Given the description of an element on the screen output the (x, y) to click on. 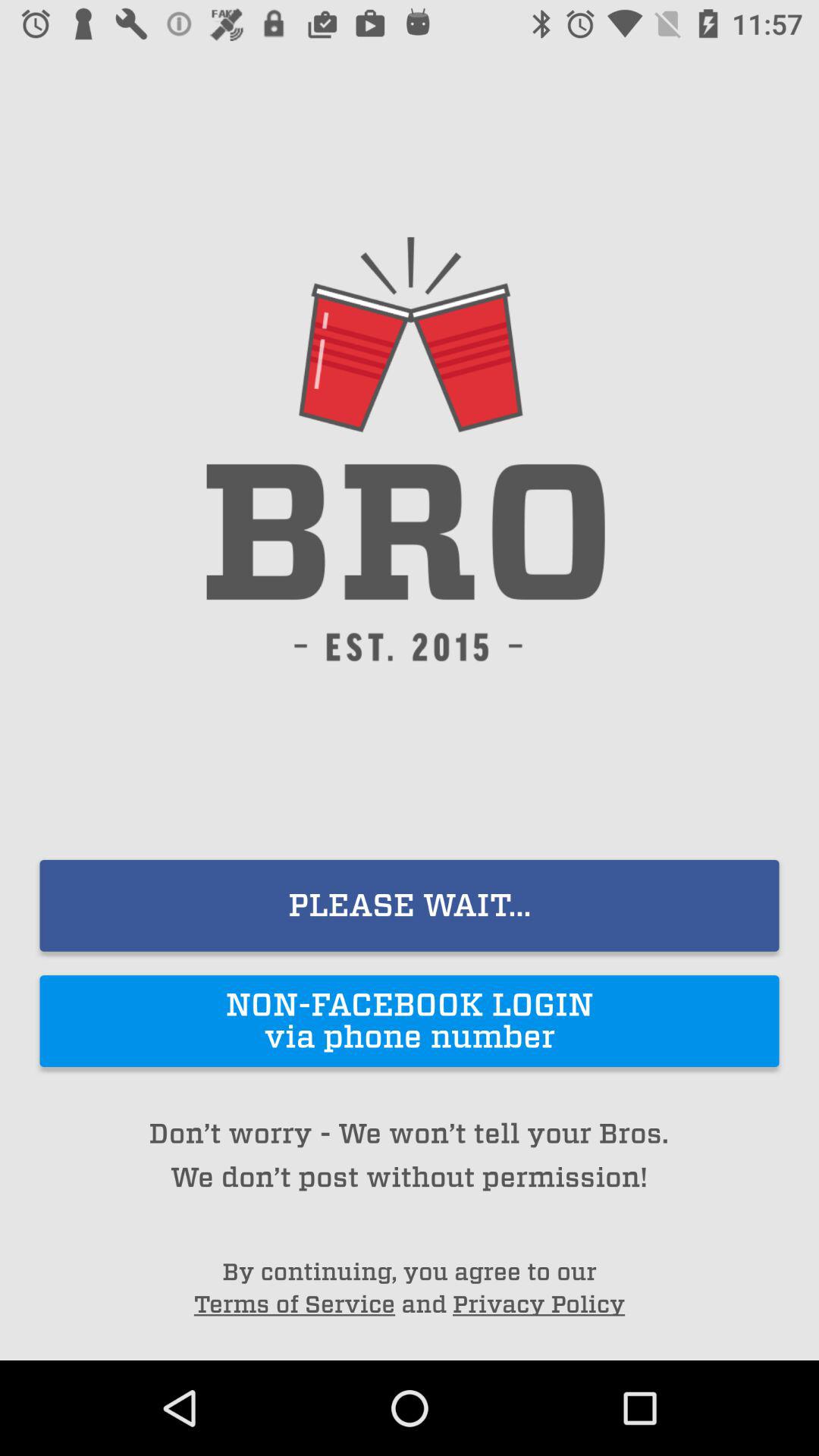
launch icon at the center (409, 905)
